Given the description of an element on the screen output the (x, y) to click on. 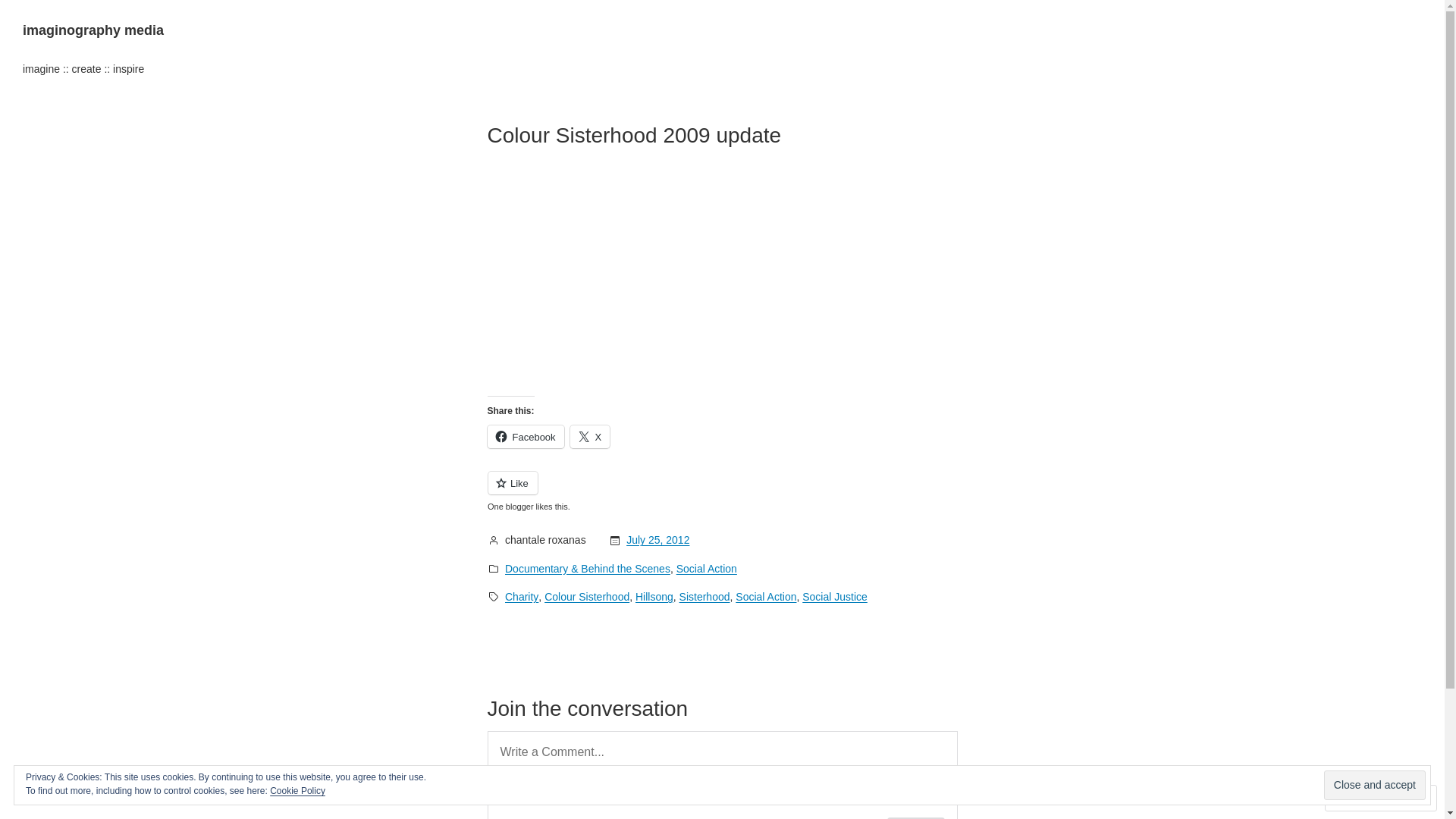
imaginography media Element type: text (92, 29)
Close and accept Element type: text (1374, 785)
Facebook Element type: text (524, 436)
July 25, 2012 Element type: text (657, 539)
Sisterhood Element type: text (704, 596)
Cookie Policy Element type: text (297, 790)
Social Justice Element type: text (834, 596)
Documentary & Behind the Scenes Element type: text (587, 568)
Charity Element type: text (521, 596)
Social Action Element type: text (765, 596)
Social Action Element type: text (706, 568)
Colour Sisterhood Element type: text (586, 596)
X Element type: text (590, 436)
Hillsong Element type: text (654, 596)
Comment Element type: text (1366, 797)
Like or Reblog Element type: hover (721, 491)
